Given the description of an element on the screen output the (x, y) to click on. 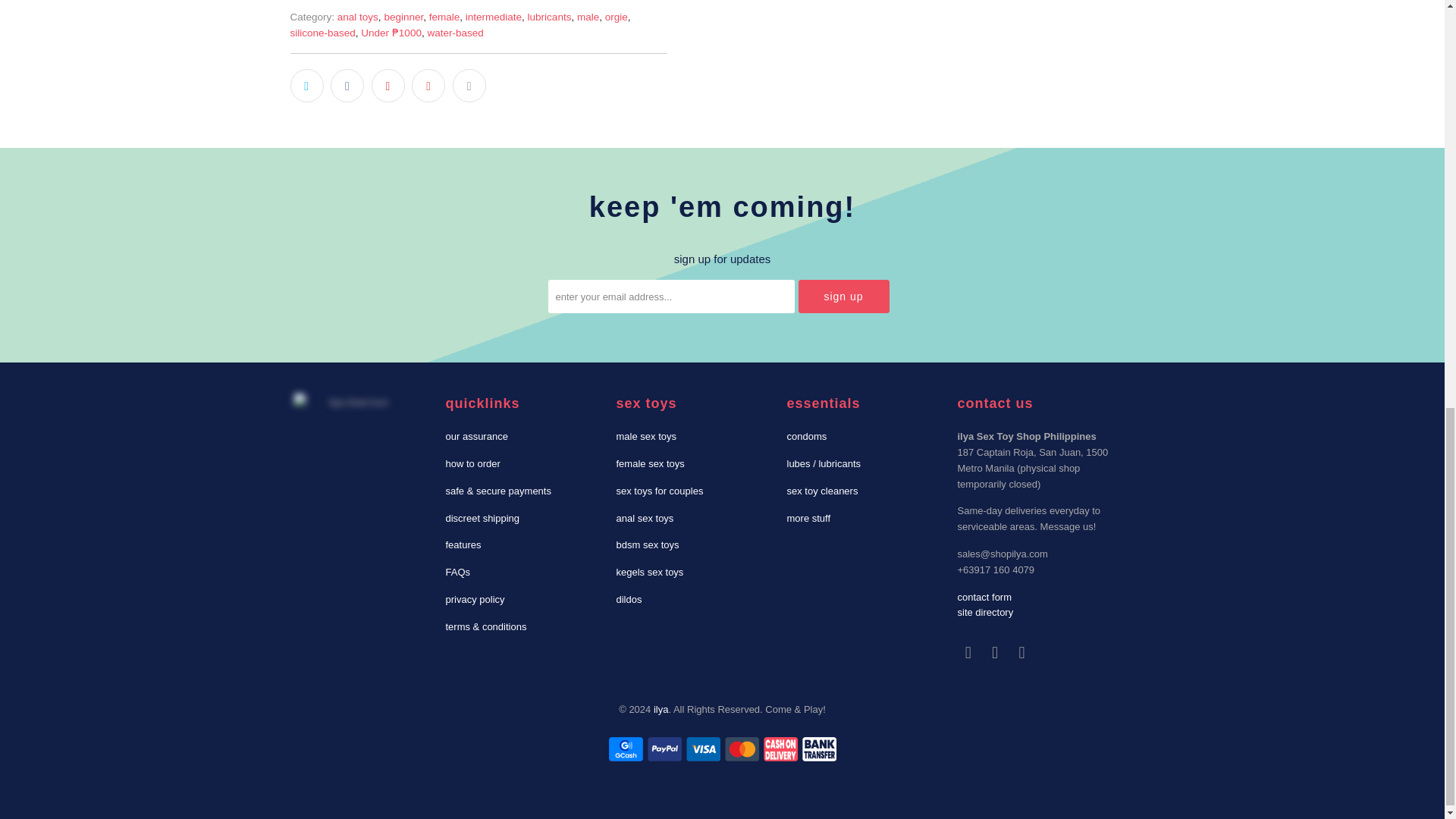
Products tagged intermediate (493, 16)
Products tagged lubricants (549, 16)
Share this on Facebook (347, 85)
Share this on Twitter (306, 85)
Products tagged water-based (454, 32)
Products tagged silicone-based (322, 32)
Products tagged orgie (616, 16)
Products tagged male (587, 16)
Sign Up (842, 296)
Share this on Pinterest (387, 85)
Products tagged female (444, 16)
Products tagged beginner (403, 16)
Products tagged anal toys (357, 16)
